Given the description of an element on the screen output the (x, y) to click on. 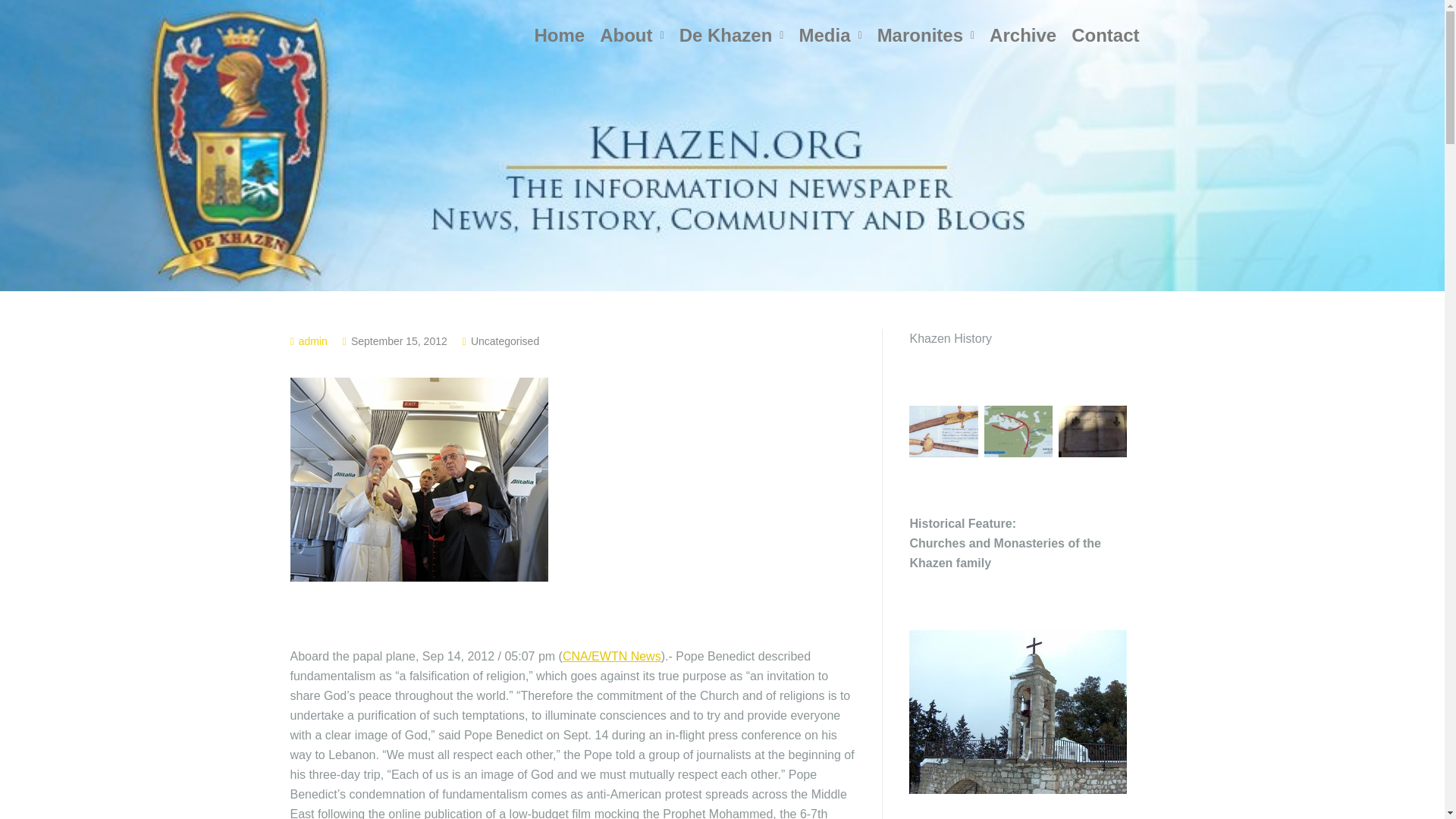
Media (829, 35)
Archive (1022, 35)
De Khazen (731, 35)
Maronites (925, 35)
Home (559, 35)
Uncategorised (504, 340)
About (631, 35)
Contact (1105, 35)
